Given the description of an element on the screen output the (x, y) to click on. 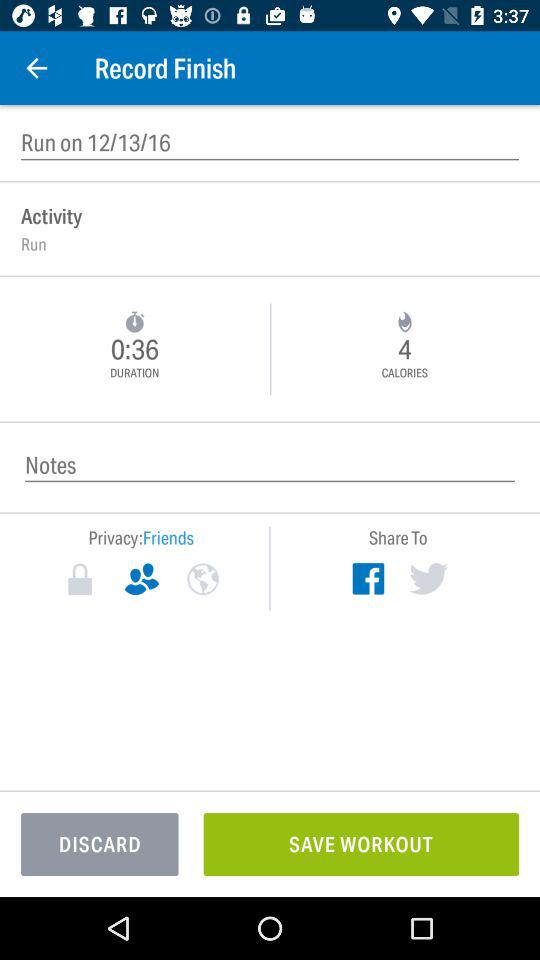
tap icon below the privacy: icon (80, 579)
